Given the description of an element on the screen output the (x, y) to click on. 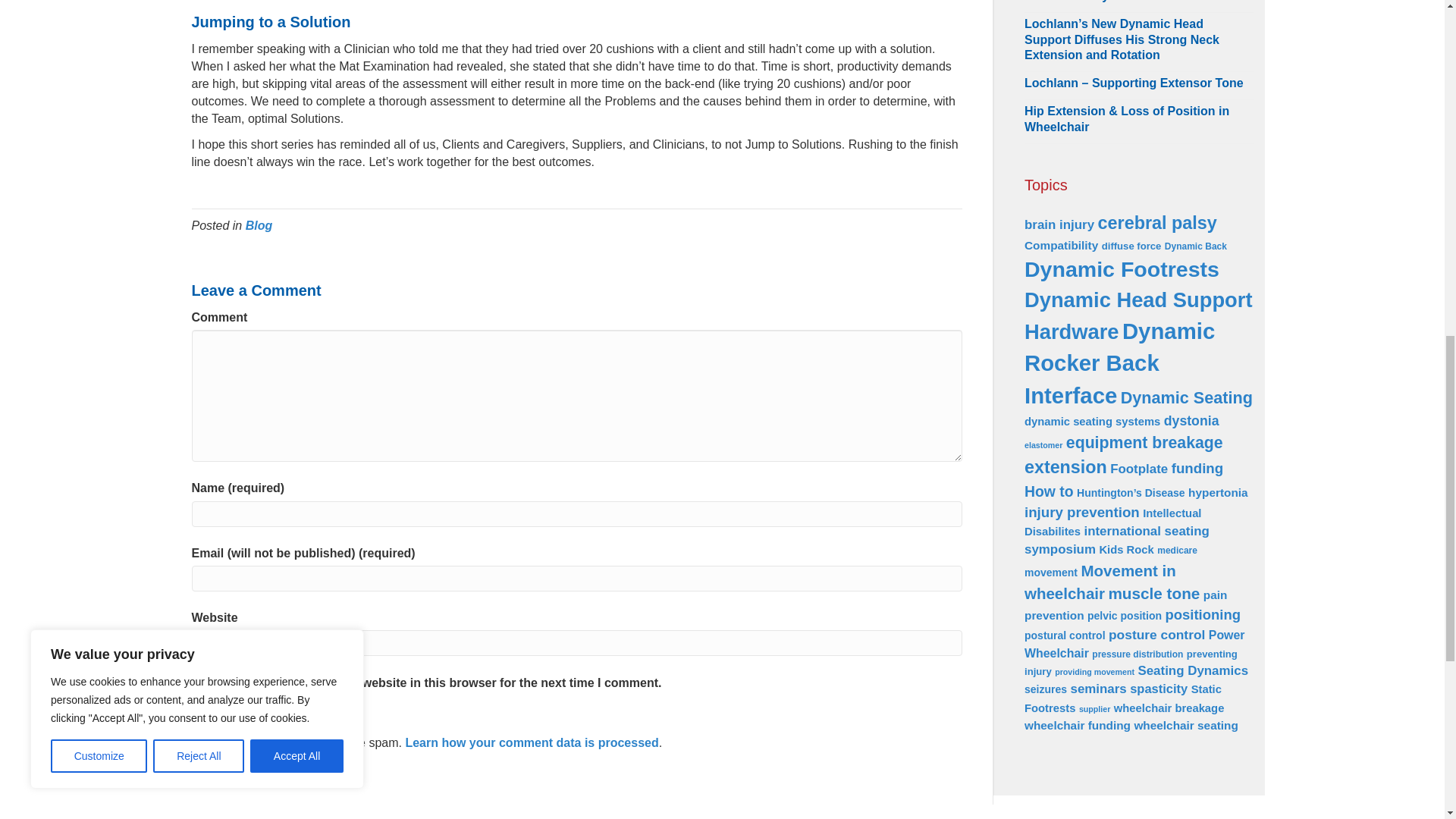
Submit Comment (255, 714)
yes (195, 682)
